Given the description of an element on the screen output the (x, y) to click on. 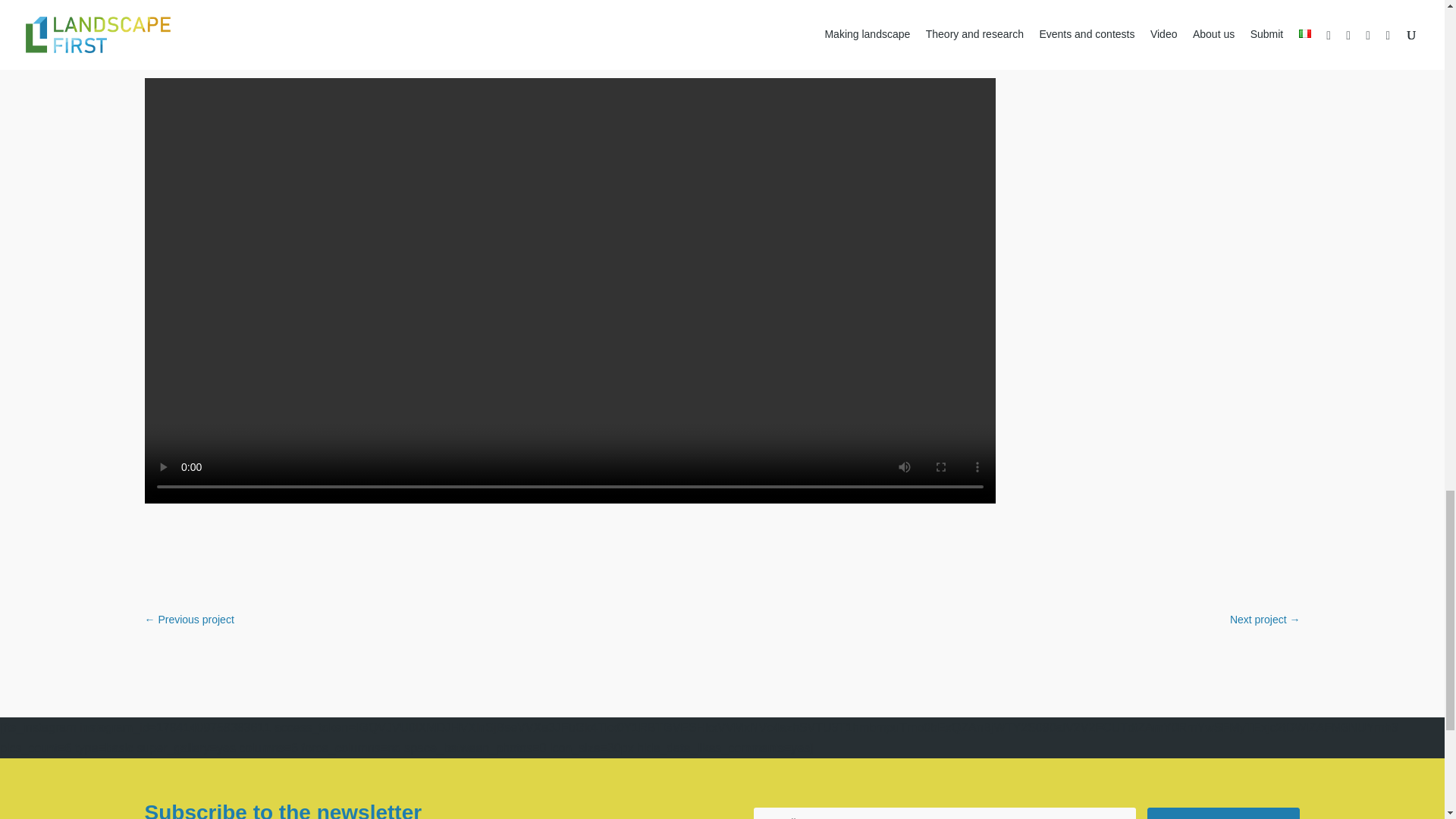
SUBSCRIBE (1223, 813)
